Given the description of an element on the screen output the (x, y) to click on. 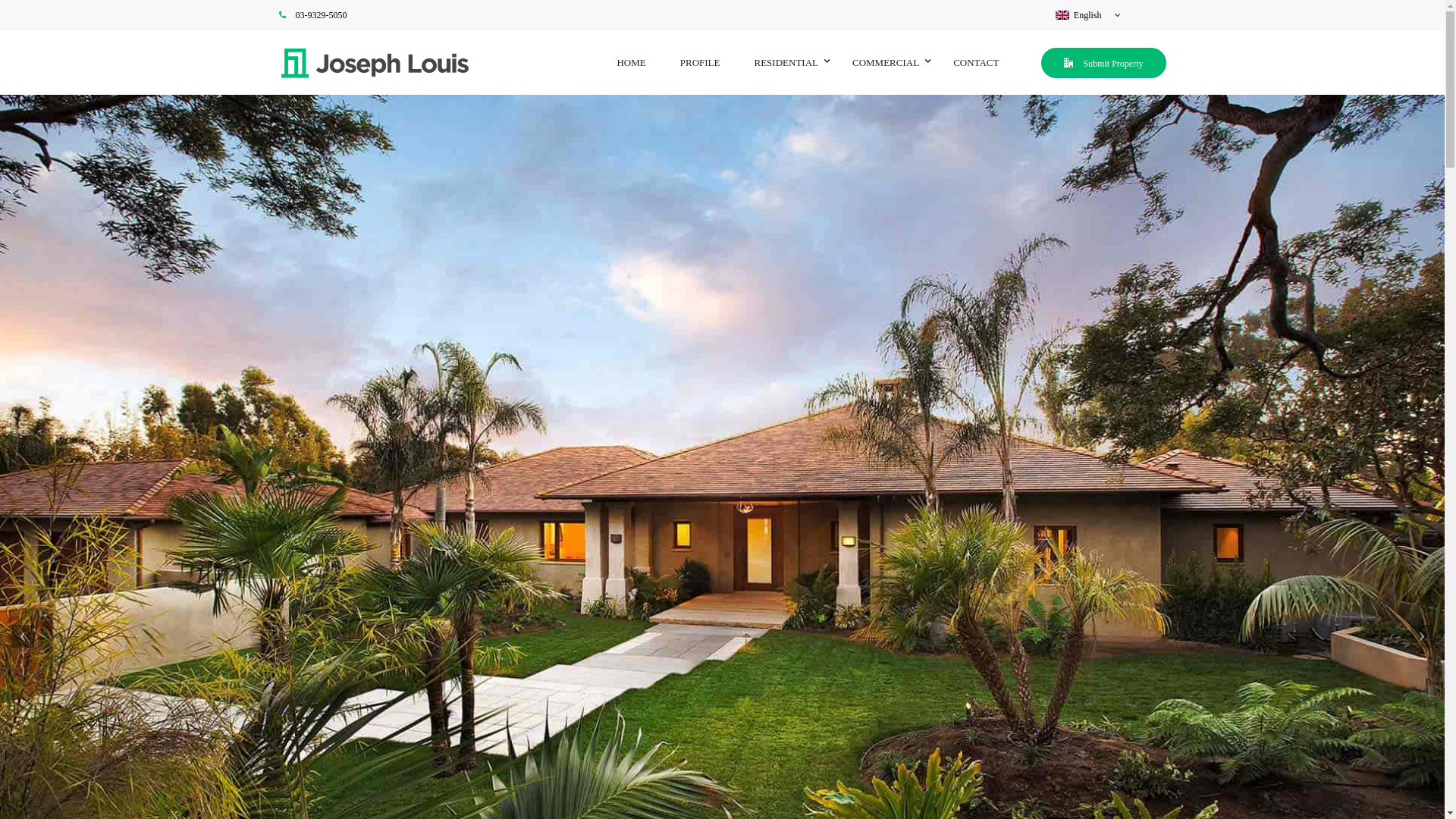
COMMERCIAL Element type: text (885, 62)
Submit Property Element type: text (1102, 63)
  English Element type: text (1087, 14)
RESIDENTIAL Element type: text (785, 62)
PROFILE Element type: text (700, 62)
HOME Element type: text (630, 62)
CONTACT Element type: text (975, 62)
English Element type: hover (1062, 14)
